Given the description of an element on the screen output the (x, y) to click on. 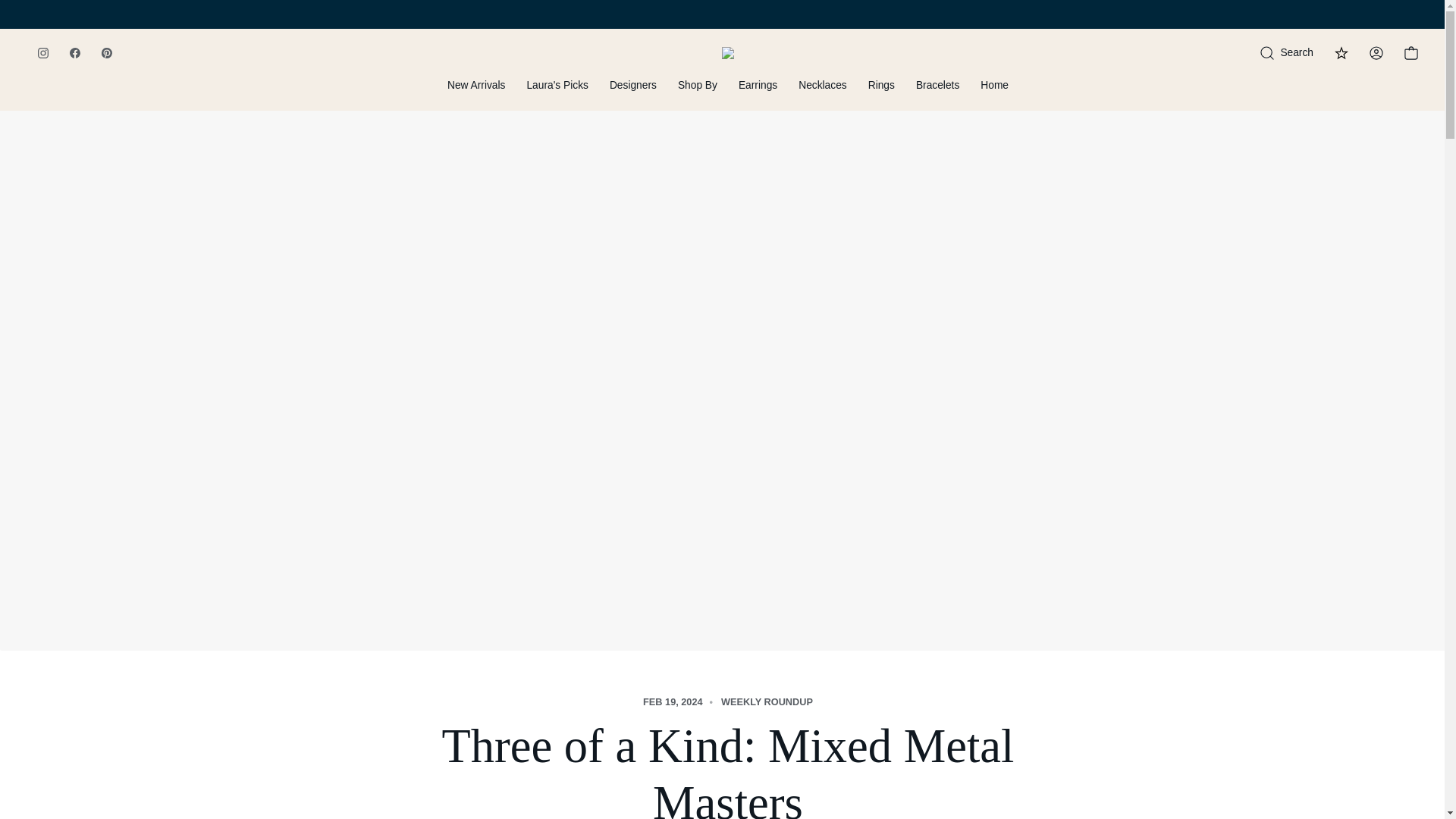
New Arrivals (476, 92)
Laura's Picks (556, 92)
Broken English Jewelry on Facebook (74, 52)
Instagram (43, 52)
Broken English Jewelry on Instagram (43, 52)
Broken English Jewelry on Pinterest (106, 52)
Search (1286, 53)
Facebook (74, 52)
Pinterest (106, 52)
Designers (632, 92)
